Given the description of an element on the screen output the (x, y) to click on. 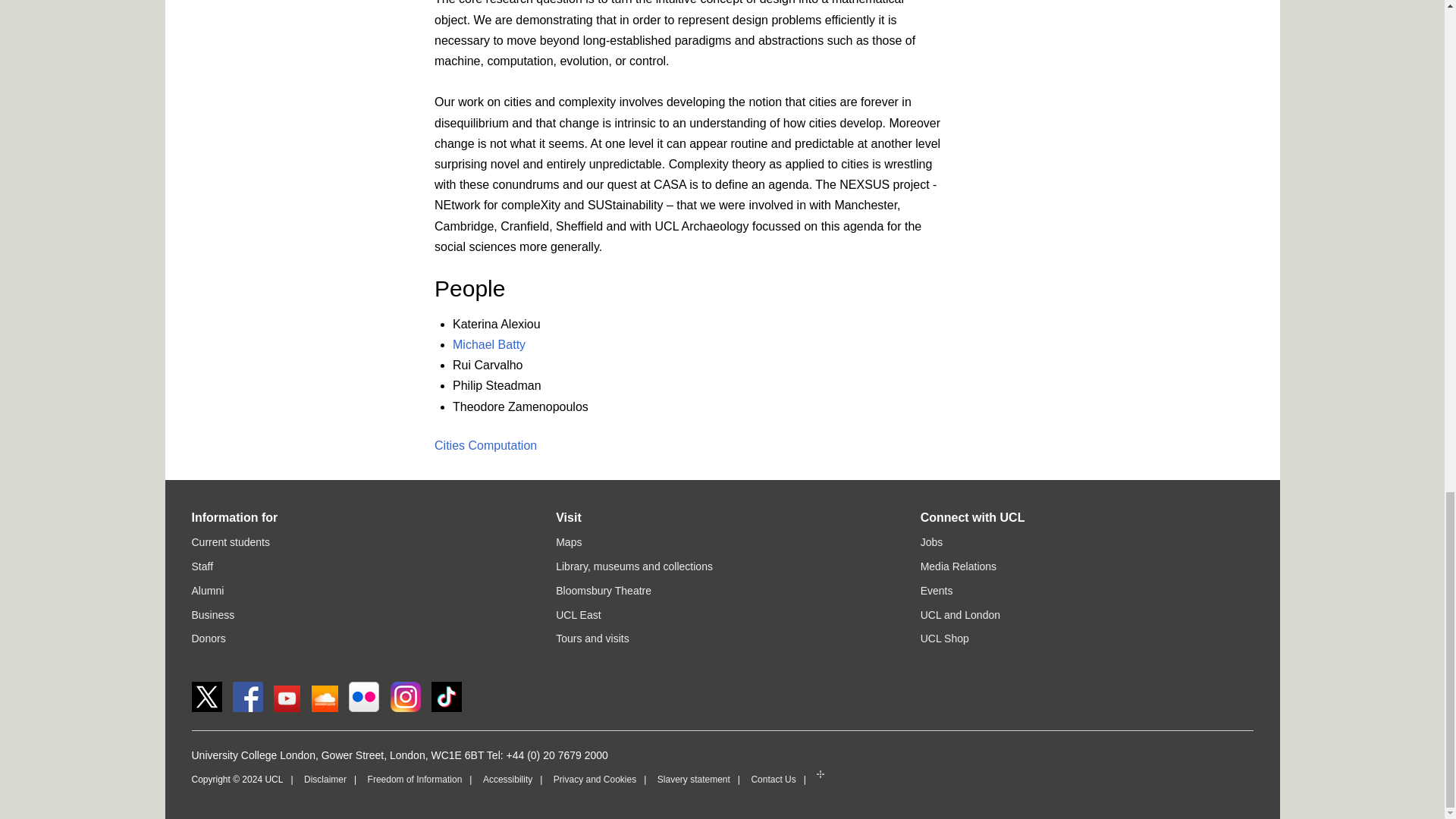
Alumni (207, 590)
Michael Batty (488, 344)
Jobs (931, 541)
Library, museums and collections (634, 566)
Staff (201, 566)
Current students (229, 541)
Cities (448, 445)
Media Relations (957, 566)
Computation (502, 445)
UCL East (577, 614)
